Given the description of an element on the screen output the (x, y) to click on. 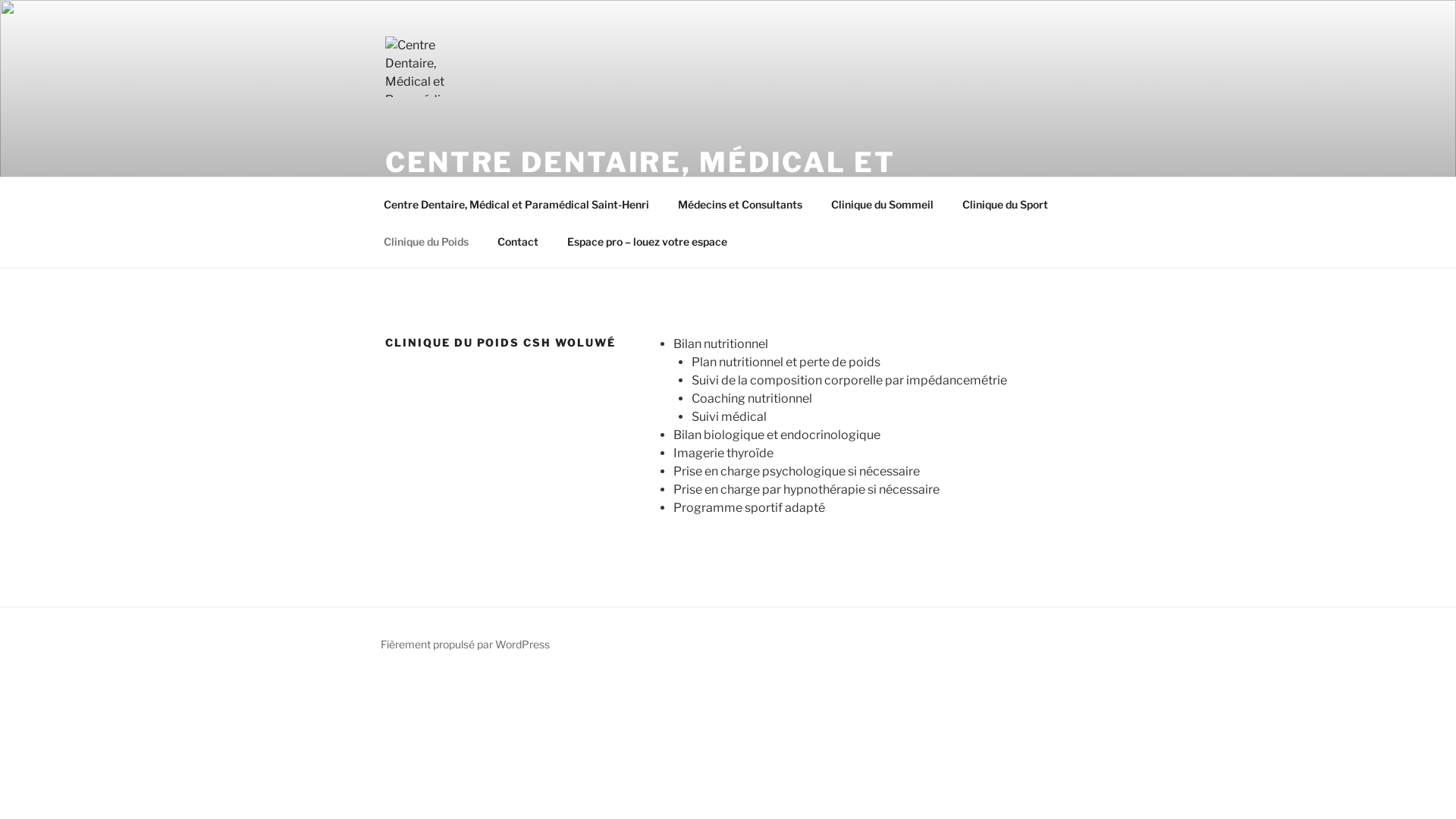
Clinique du Sport Element type: text (1004, 203)
Clinique du Sommeil Element type: text (881, 203)
Clinique du Poids Element type: text (425, 241)
Contact Element type: text (517, 241)
